Given the description of an element on the screen output the (x, y) to click on. 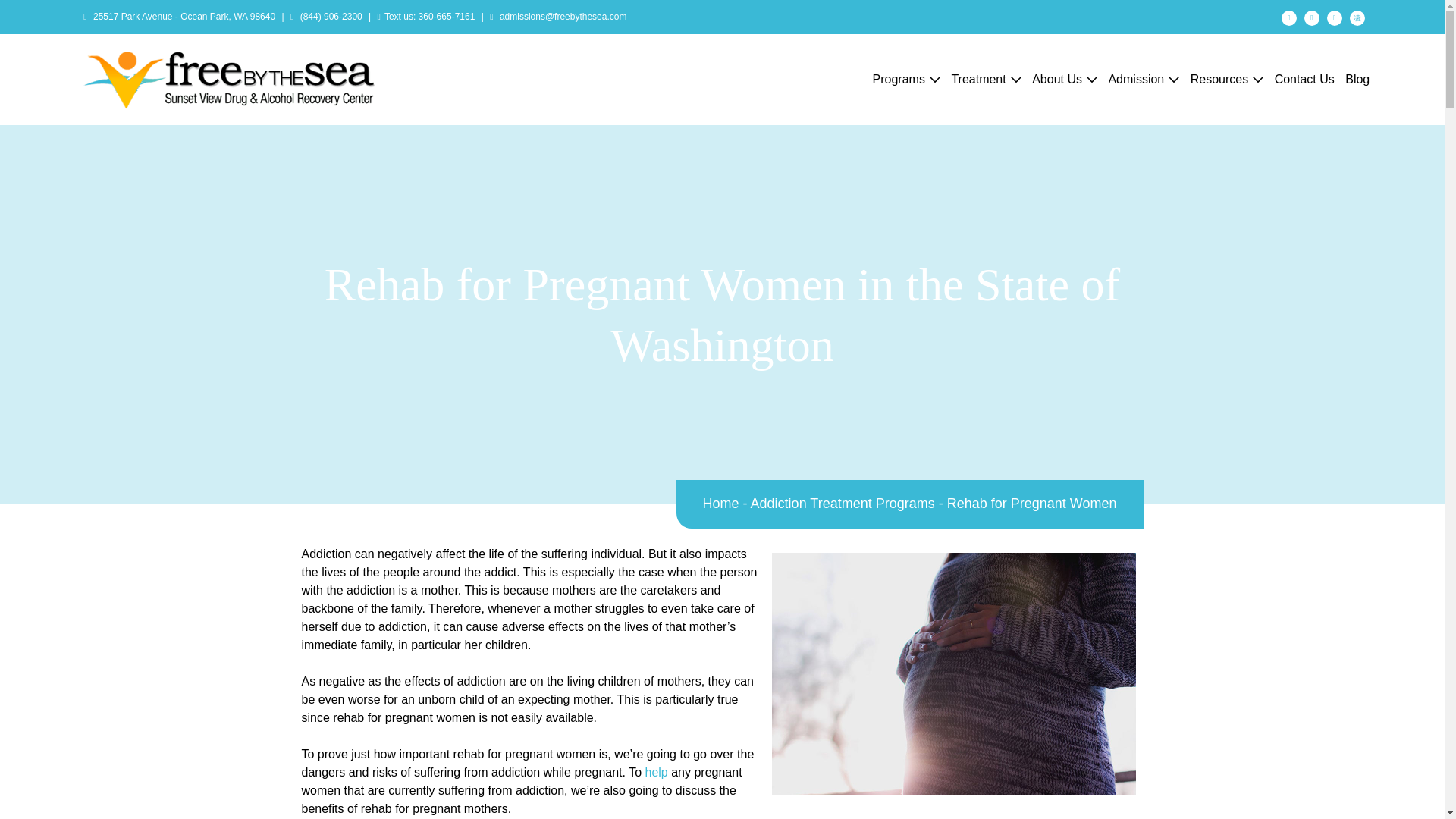
Go to Addiction Treatment Programs. (842, 503)
Twitter (1334, 15)
25517 Park Avenue - Ocean Park, WA 98640 (184, 16)
Go to Free by the Sea. (721, 503)
Instagram (1357, 15)
Facebook (1289, 15)
Pinterest (1311, 15)
